Given the description of an element on the screen output the (x, y) to click on. 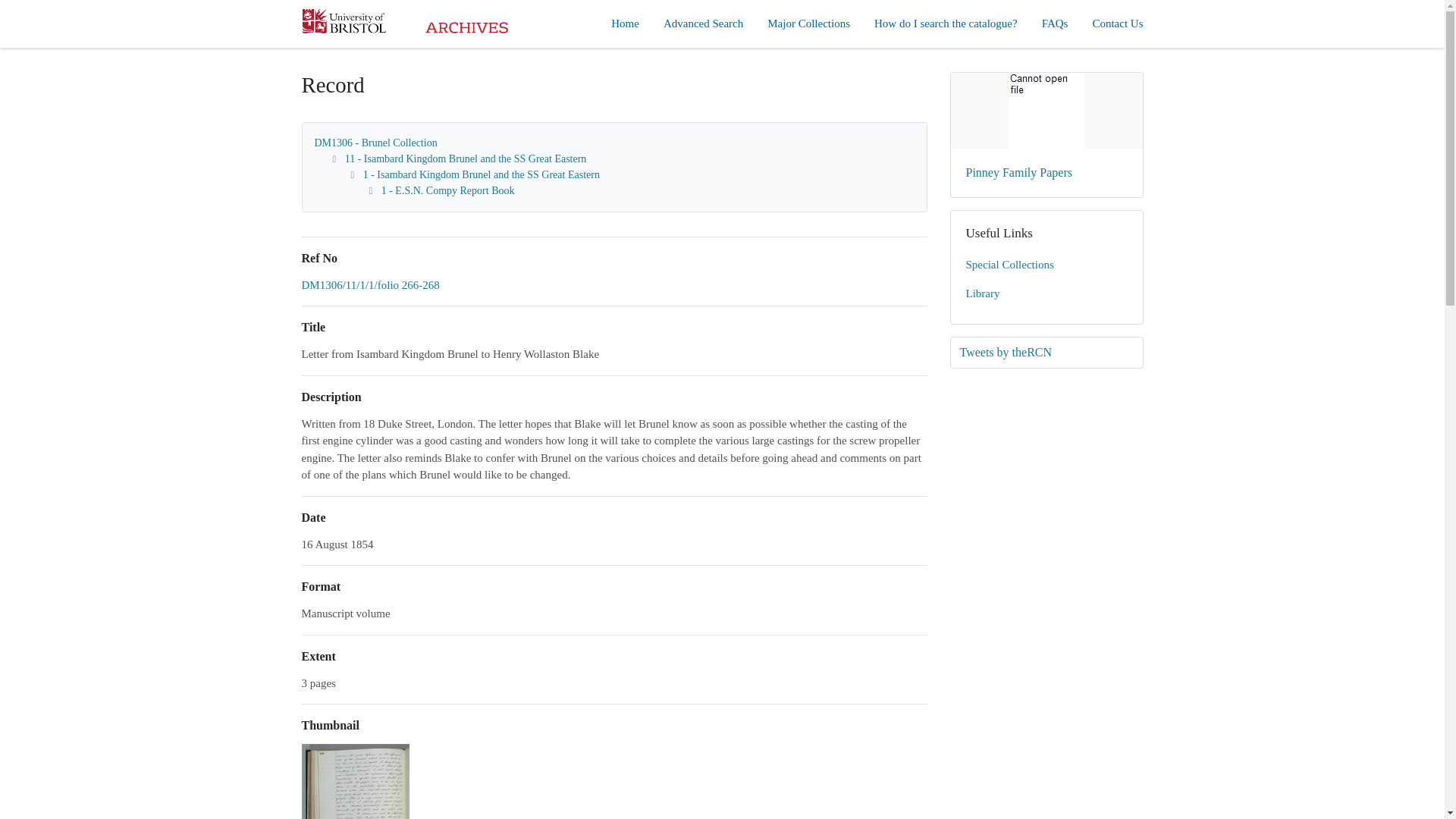
1 - E.S.N. Compy Report Book (448, 190)
Special Collections (1046, 265)
Tweets by theRCN (1046, 352)
Advanced Search (702, 23)
Library (1046, 293)
Homepage (404, 23)
Pinney Family Papers (1046, 134)
11 - Isambard Kingdom Brunel and the SS Great Eastern (465, 158)
1 - Isambard Kingdom Brunel and the SS Great Eastern (480, 174)
DM1306 - Brunel Collection (375, 142)
